Given the description of an element on the screen output the (x, y) to click on. 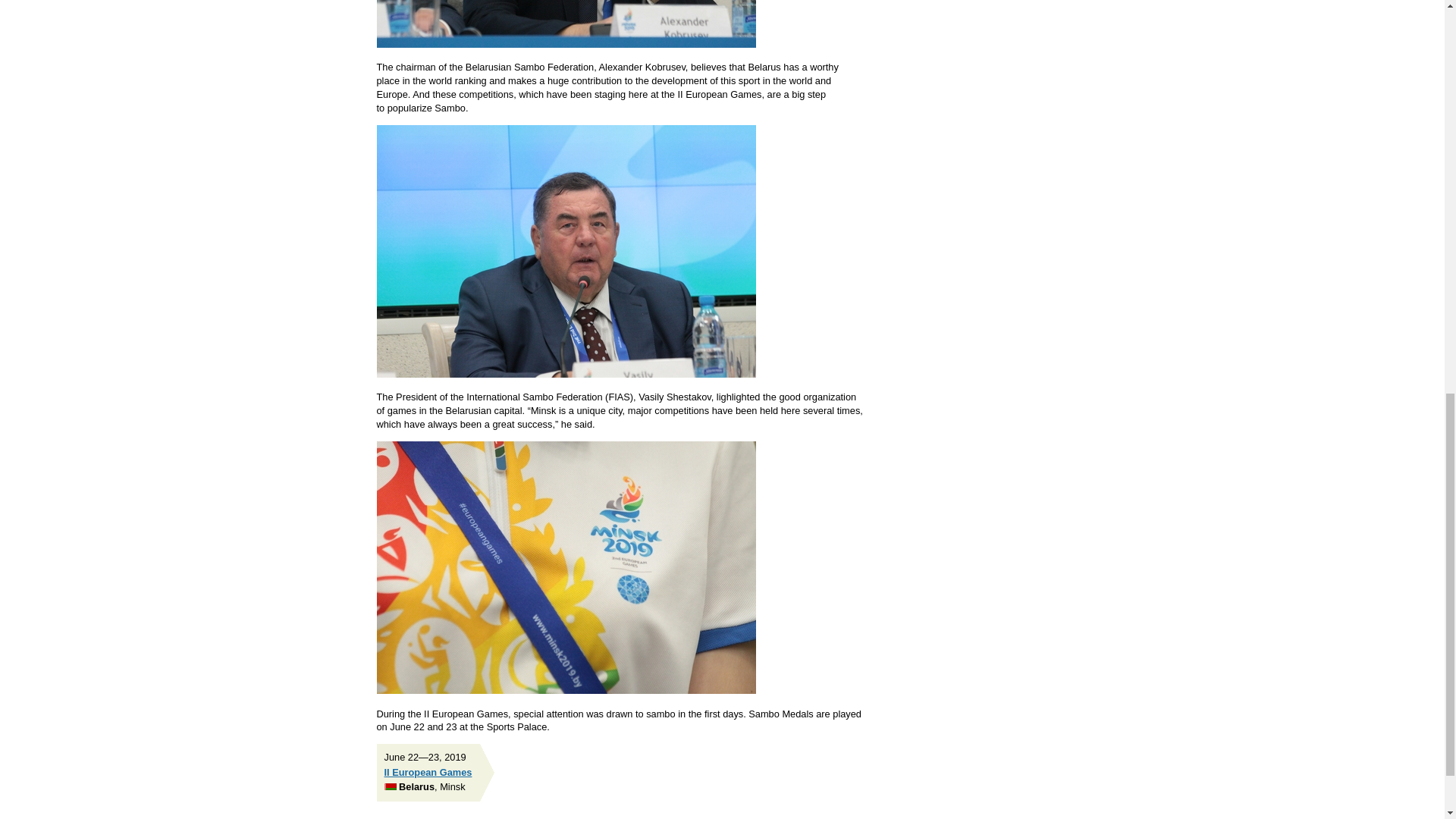
II European Games (427, 772)
